Given the description of an element on the screen output the (x, y) to click on. 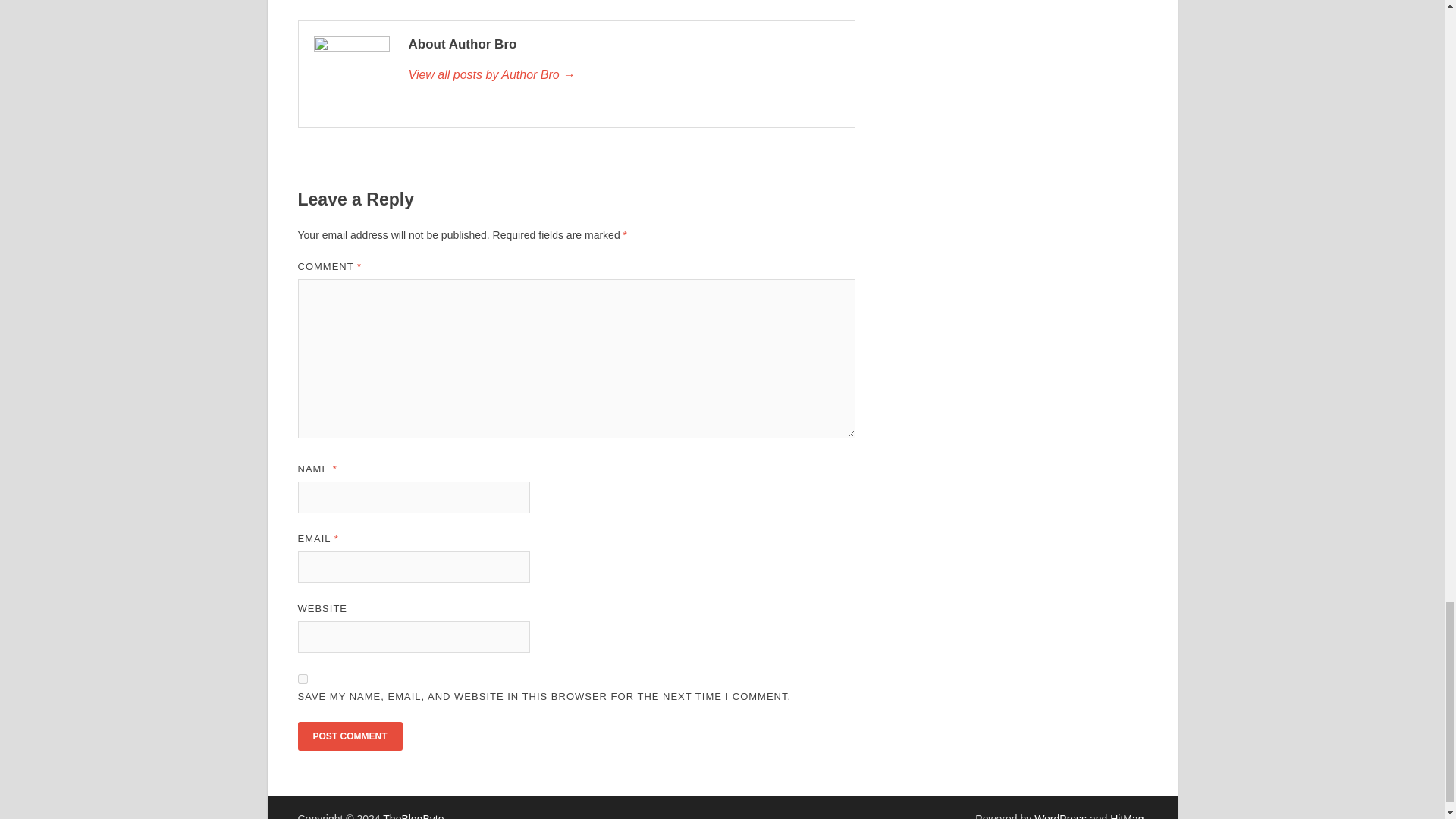
yes (302, 678)
Author Bro (622, 75)
Post Comment (349, 736)
